Given the description of an element on the screen output the (x, y) to click on. 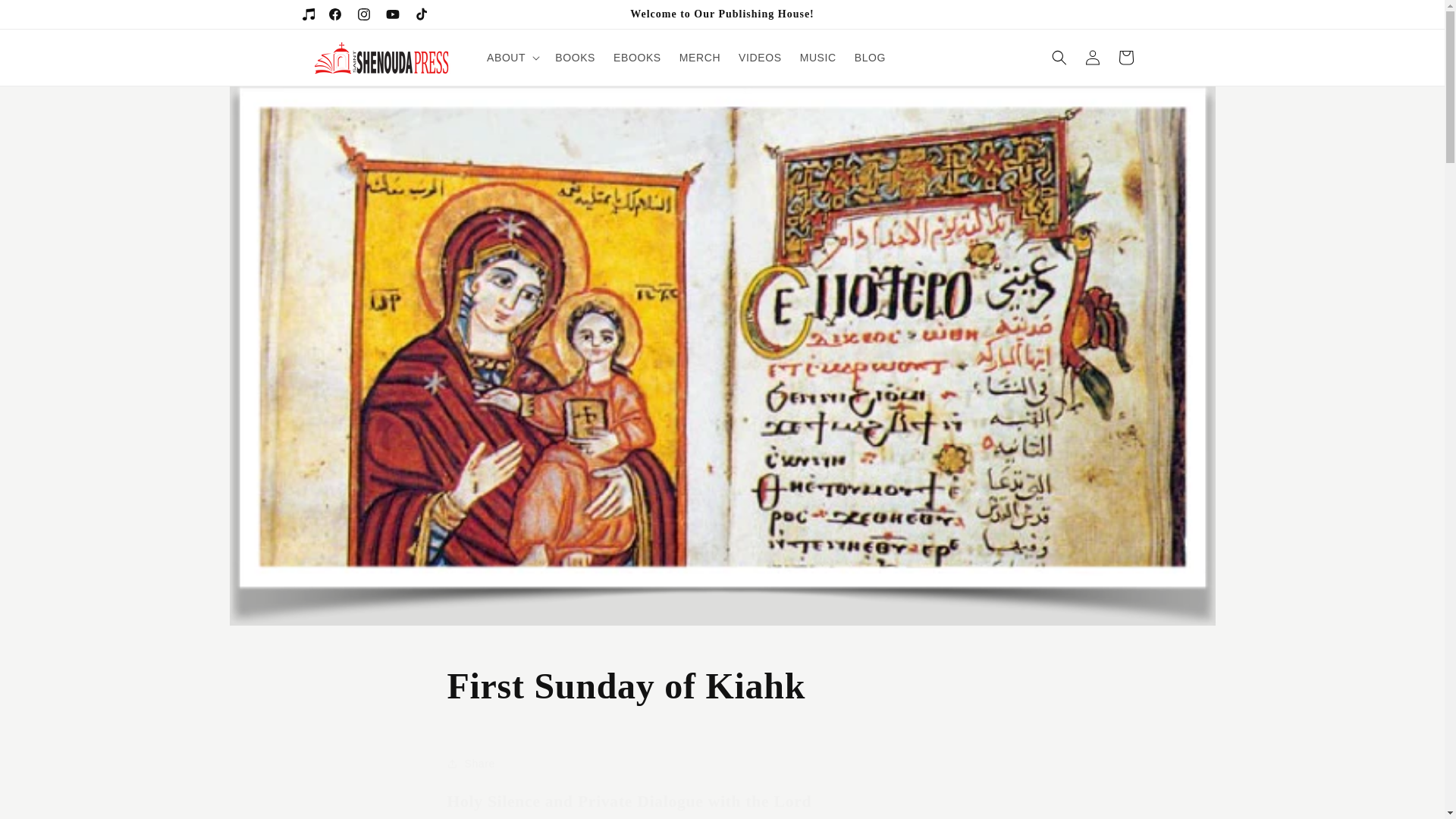
TikTok (420, 14)
Facebook (334, 14)
BLOG (870, 57)
MERCH (699, 57)
Share (721, 763)
BOOKS (575, 57)
EBOOKS (636, 57)
Skip to content (46, 18)
Instagram (363, 14)
Log in (1091, 57)
VIDEOS (759, 57)
First Sunday of Kiahk (721, 686)
MUSIC (817, 57)
YouTube (391, 14)
